Given the description of an element on the screen output the (x, y) to click on. 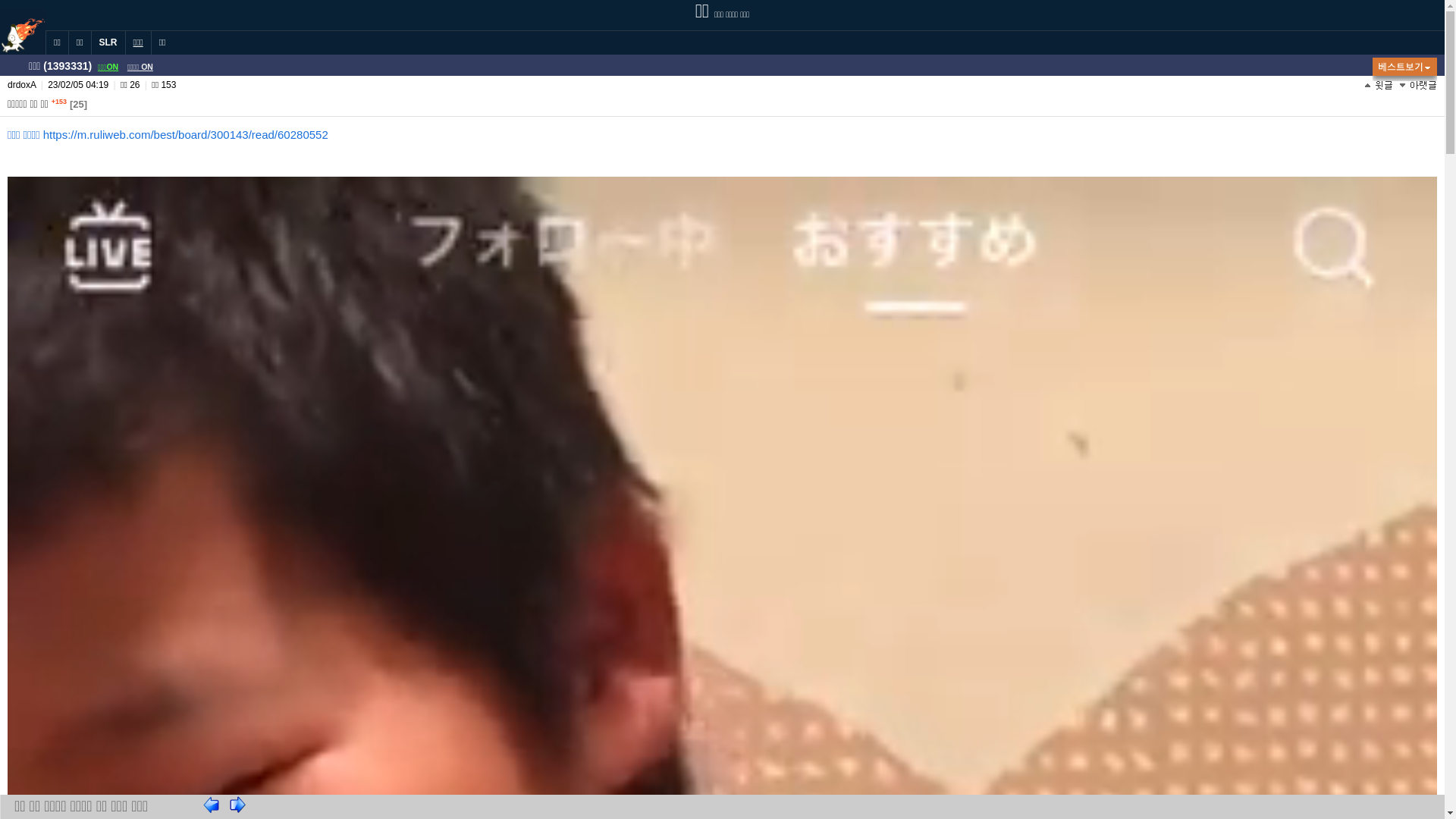
SLR Element type: text (108, 42)
